Given the description of an element on the screen output the (x, y) to click on. 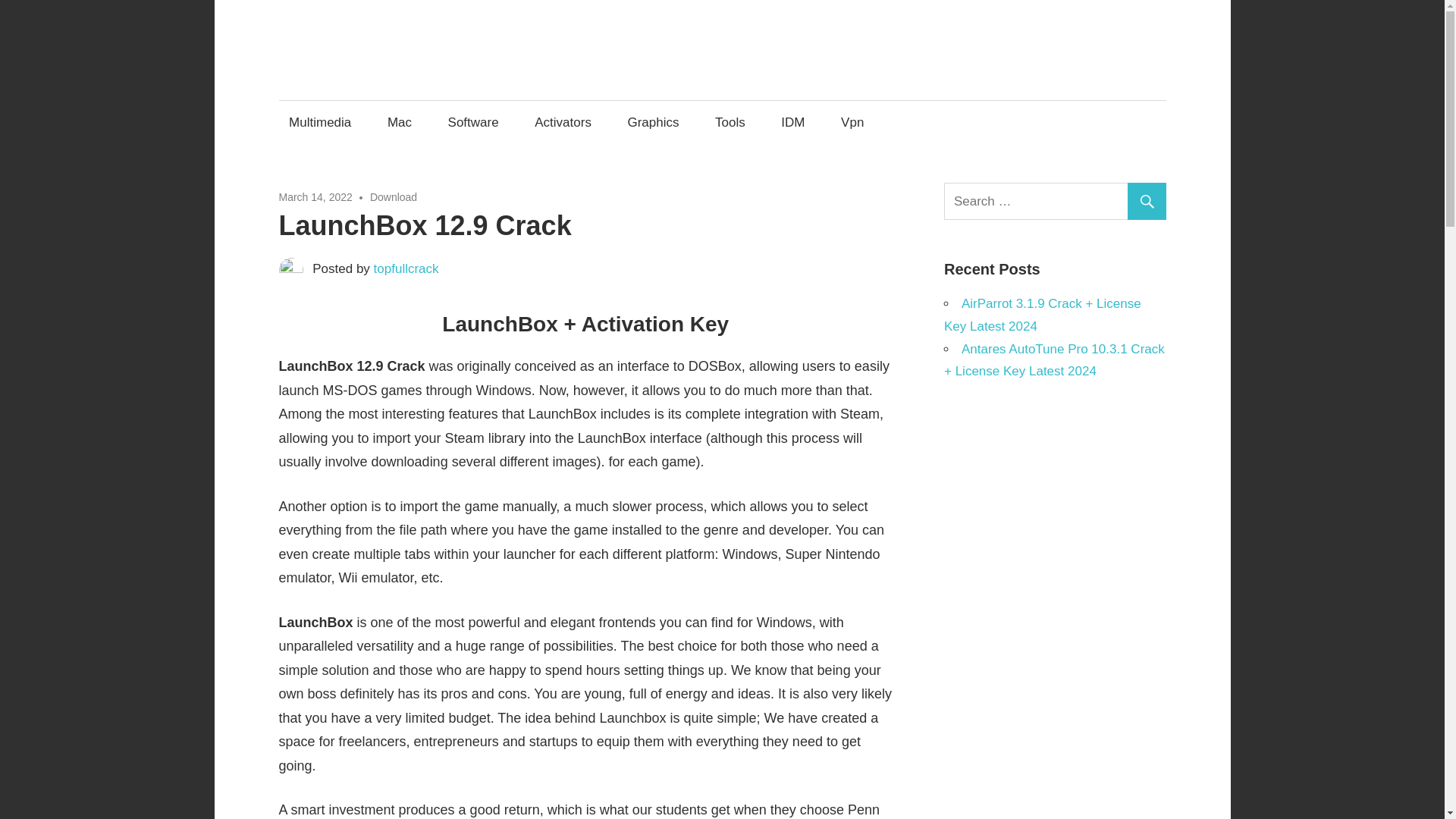
Activators (563, 121)
Software (473, 121)
Vpn (853, 121)
Multimedia (320, 121)
7:12 pm (315, 196)
topfullcrack (406, 268)
Tools (729, 121)
Search for: (1057, 201)
Mac (399, 121)
Graphics (652, 121)
IDM (793, 121)
View all posts by topfullcrack (406, 268)
March 14, 2022 (315, 196)
Download (392, 196)
